Given the description of an element on the screen output the (x, y) to click on. 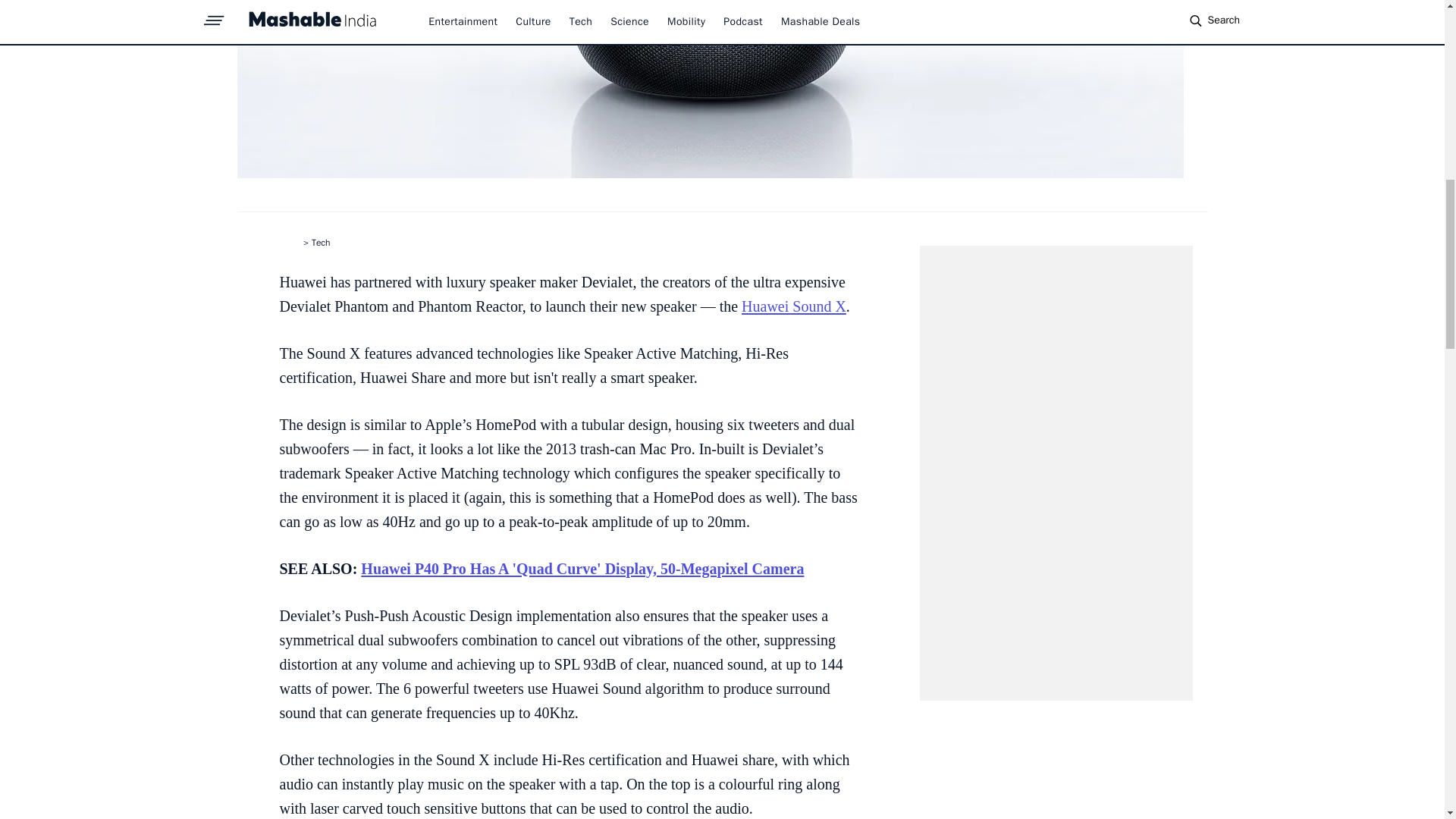
Huawei Sound X (793, 306)
